Given the description of an element on the screen output the (x, y) to click on. 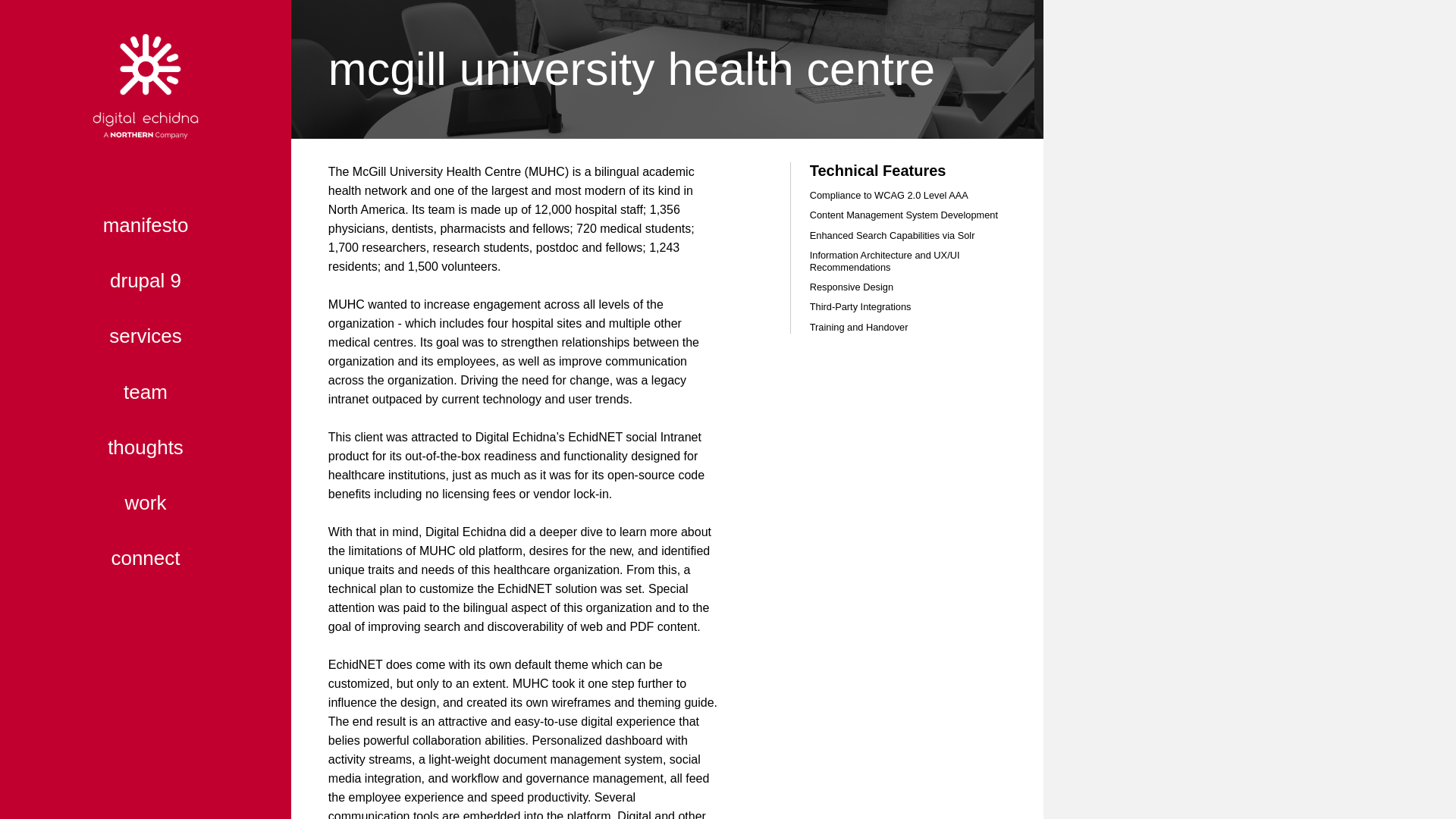
work (145, 502)
thoughts (145, 447)
drupal 9 (145, 280)
services (145, 337)
team (145, 391)
manifesto (145, 224)
connect (145, 558)
